Given the description of an element on the screen output the (x, y) to click on. 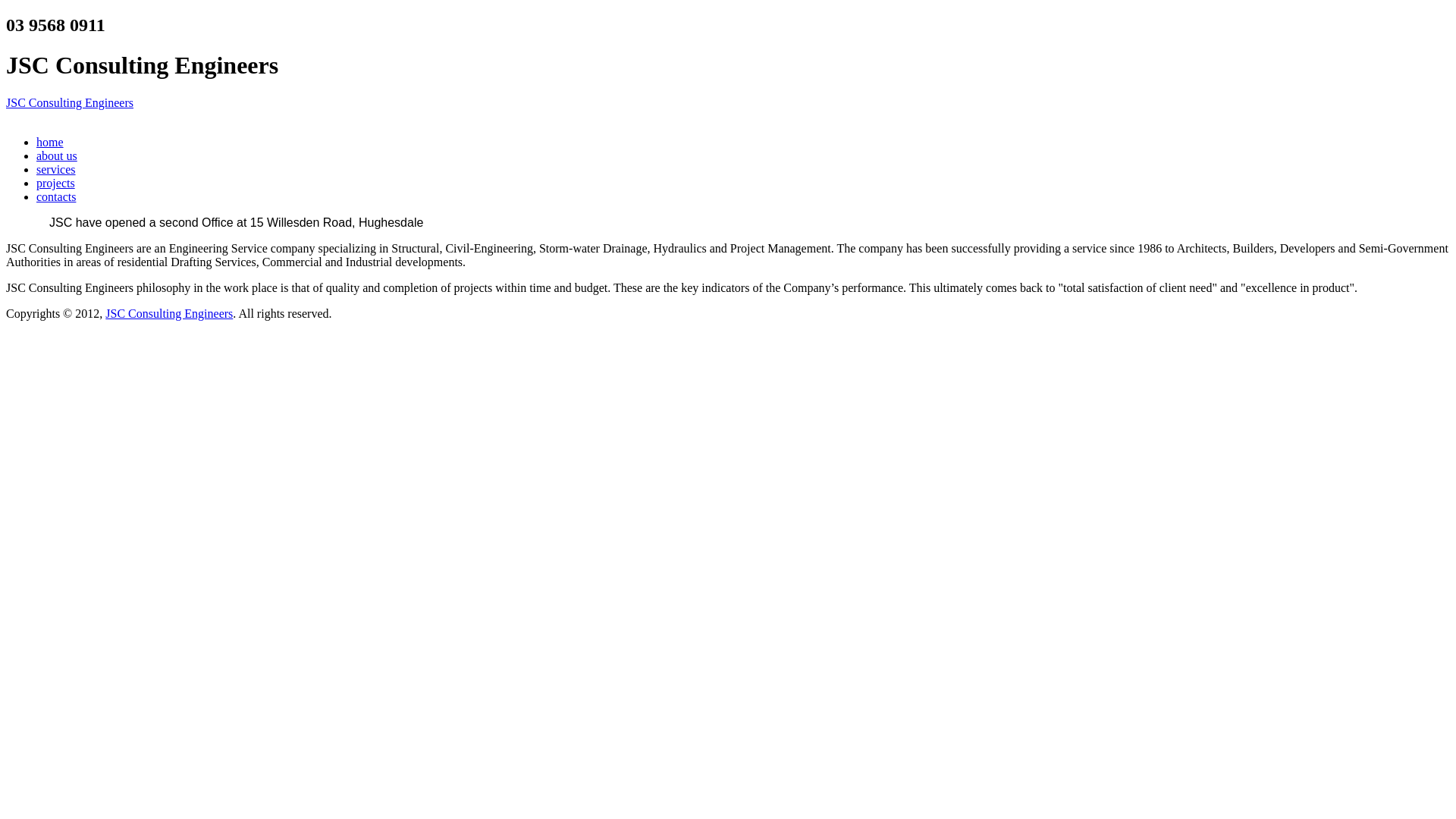
about us Element type: text (56, 155)
services Element type: text (55, 169)
JSC Consulting Engineers Element type: text (168, 313)
contacts Element type: text (55, 196)
JSC Consulting Engineers Element type: text (69, 102)
home Element type: text (49, 141)
projects Element type: text (55, 182)
